Given the description of an element on the screen output the (x, y) to click on. 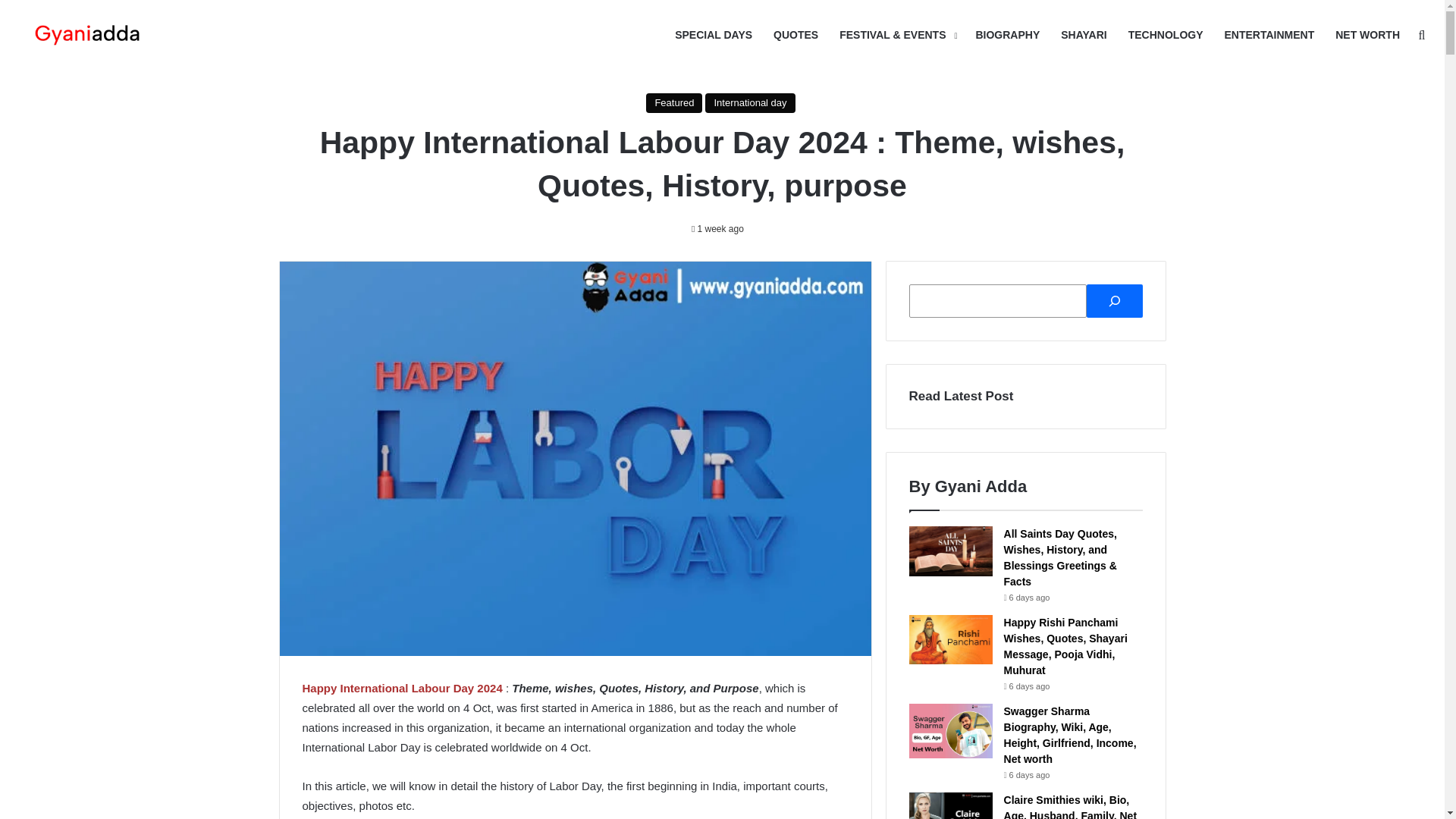
QUOTES (795, 35)
Gyani Adda (87, 35)
TECHNOLOGY (1166, 35)
Featured (673, 103)
ENTERTAINMENT (1268, 35)
SHAYARI (1082, 35)
Happy International Labour Day 2024 (401, 687)
SPECIAL DAYS (712, 35)
NET WORTH (1367, 35)
